Given the description of an element on the screen output the (x, y) to click on. 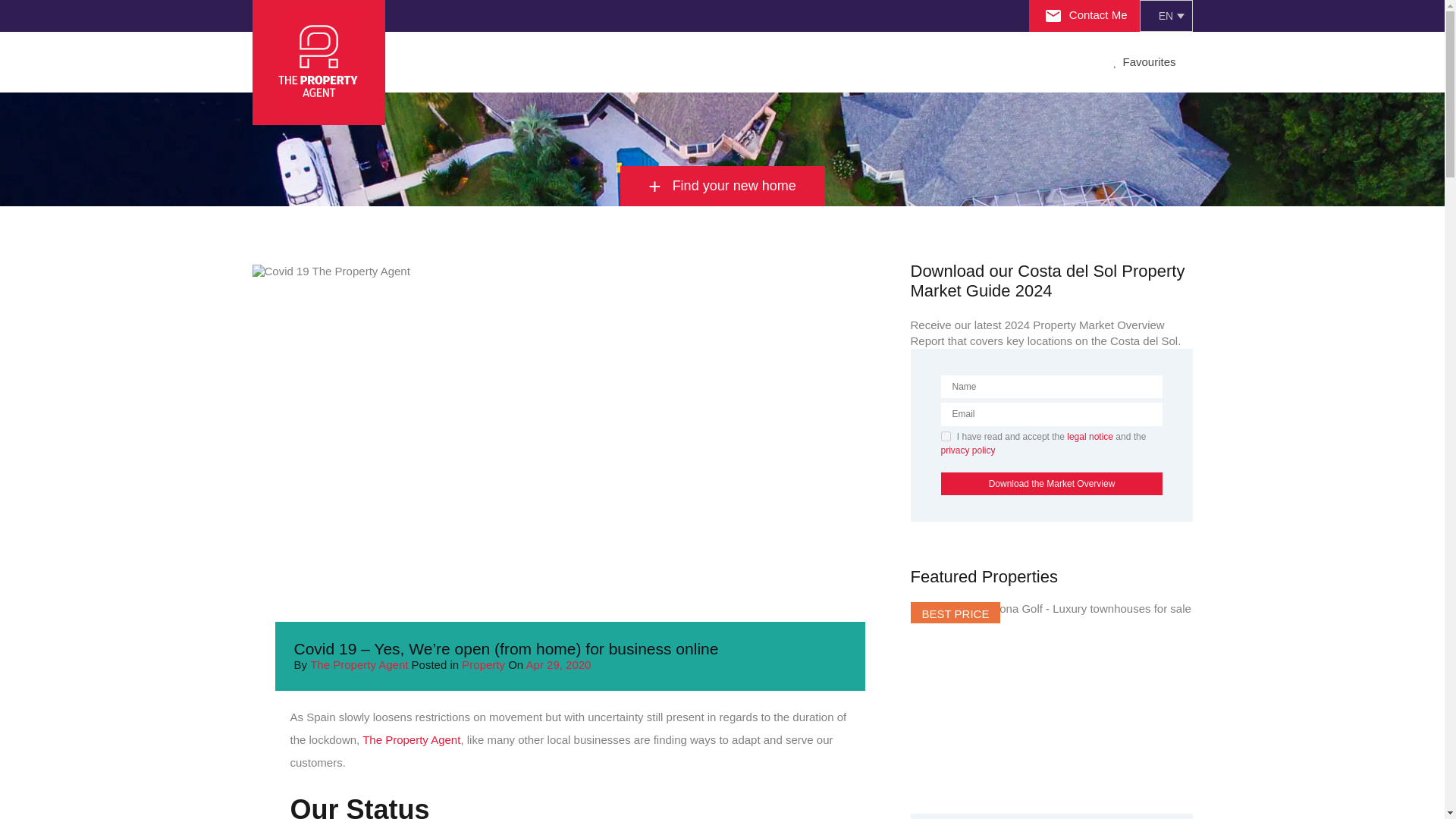
EN (1165, 15)
1 (945, 436)
Quick Links (694, 62)
Area Guides (606, 62)
Home (424, 62)
Why Choose Me (507, 62)
Costa del Sol Area Guides (606, 62)
Get in touch! (882, 62)
Contact Me (1085, 14)
About Celeste aka The Property Agent (507, 62)
Download the Market Overview (1050, 483)
